Given the description of an element on the screen output the (x, y) to click on. 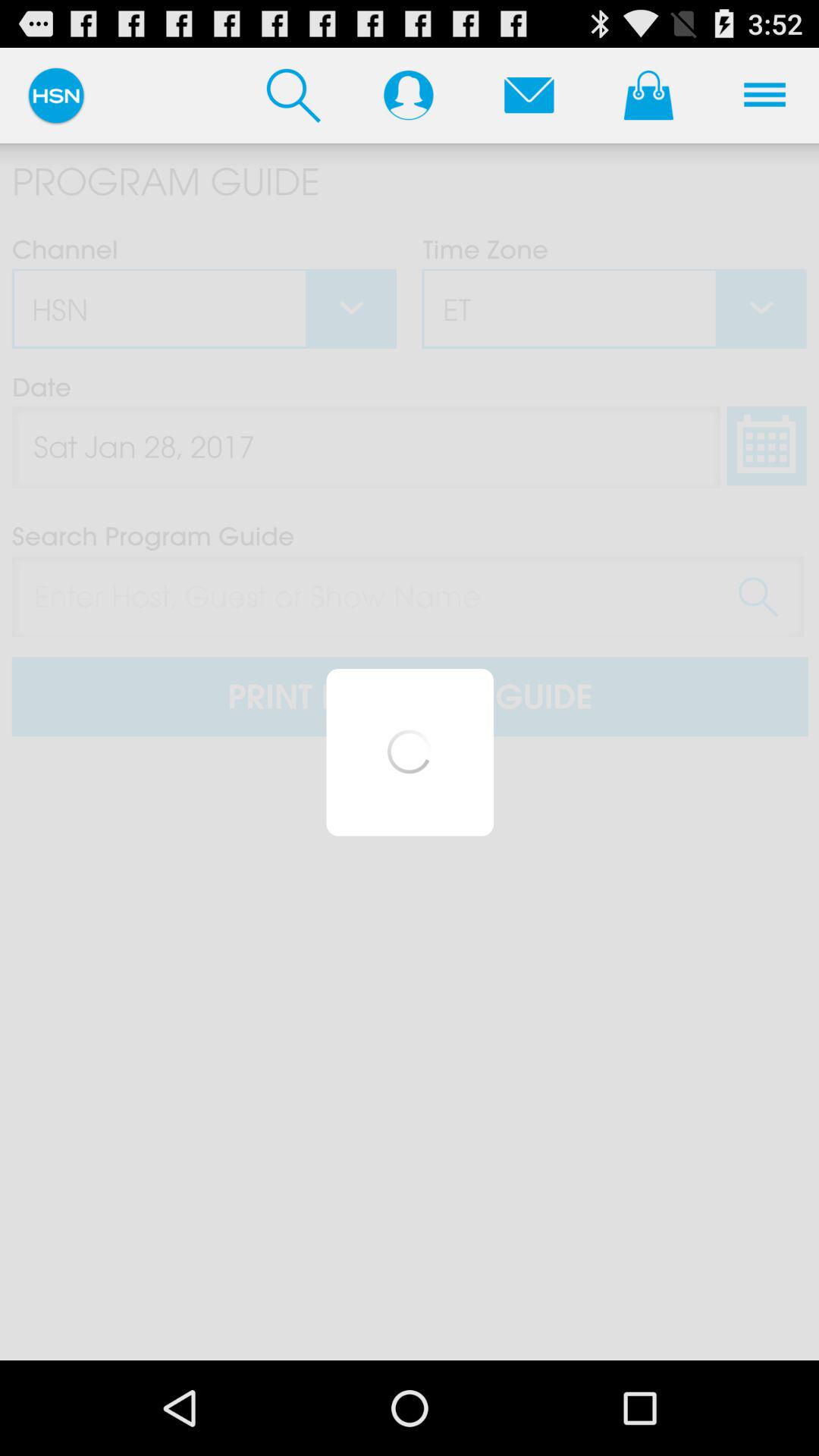
go to shopping cart (648, 95)
